Given the description of an element on the screen output the (x, y) to click on. 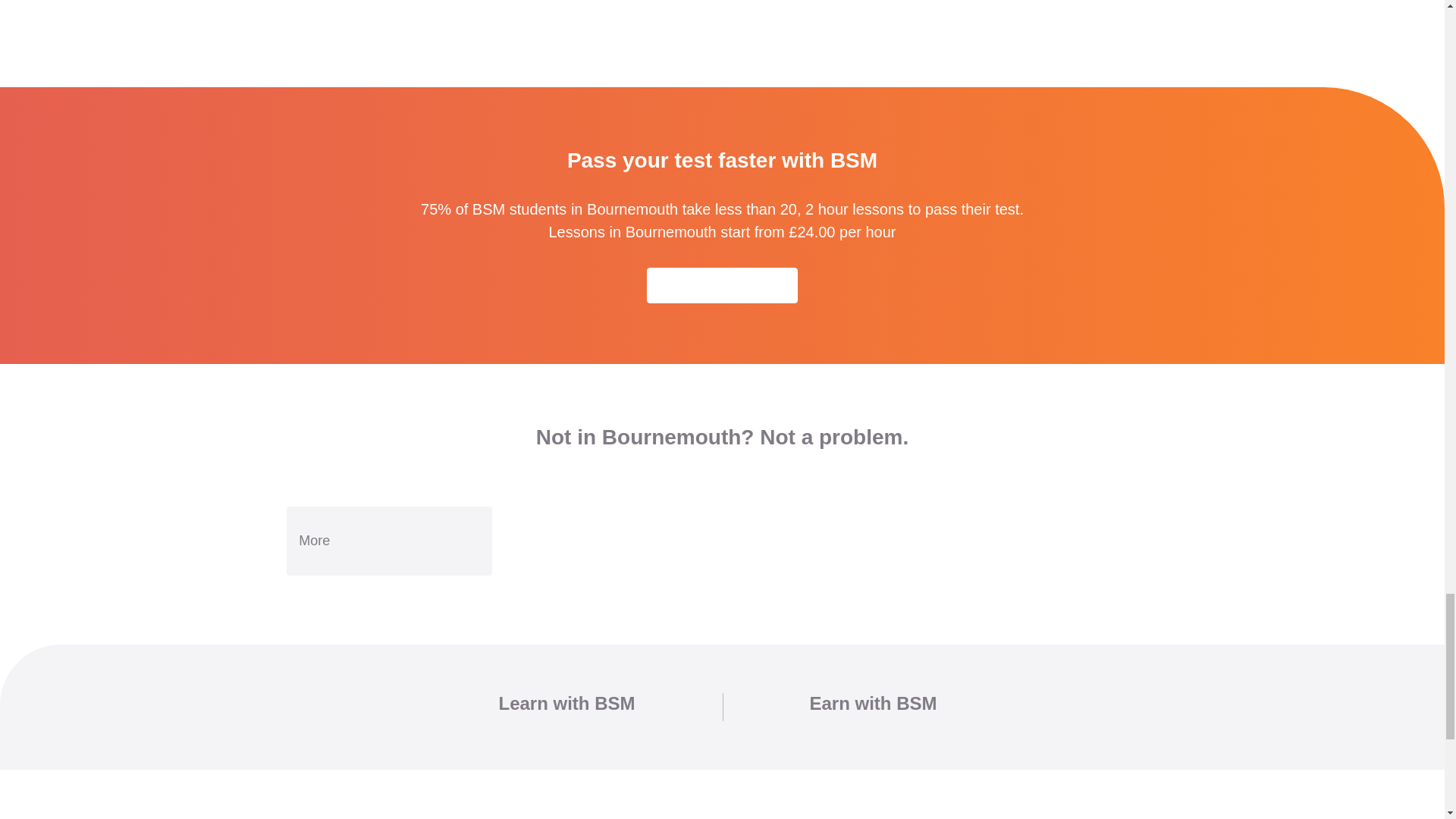
Earn with BSM (873, 702)
BOOK A LESSON (721, 285)
Learn with BSM (565, 702)
More (389, 540)
